Given the description of an element on the screen output the (x, y) to click on. 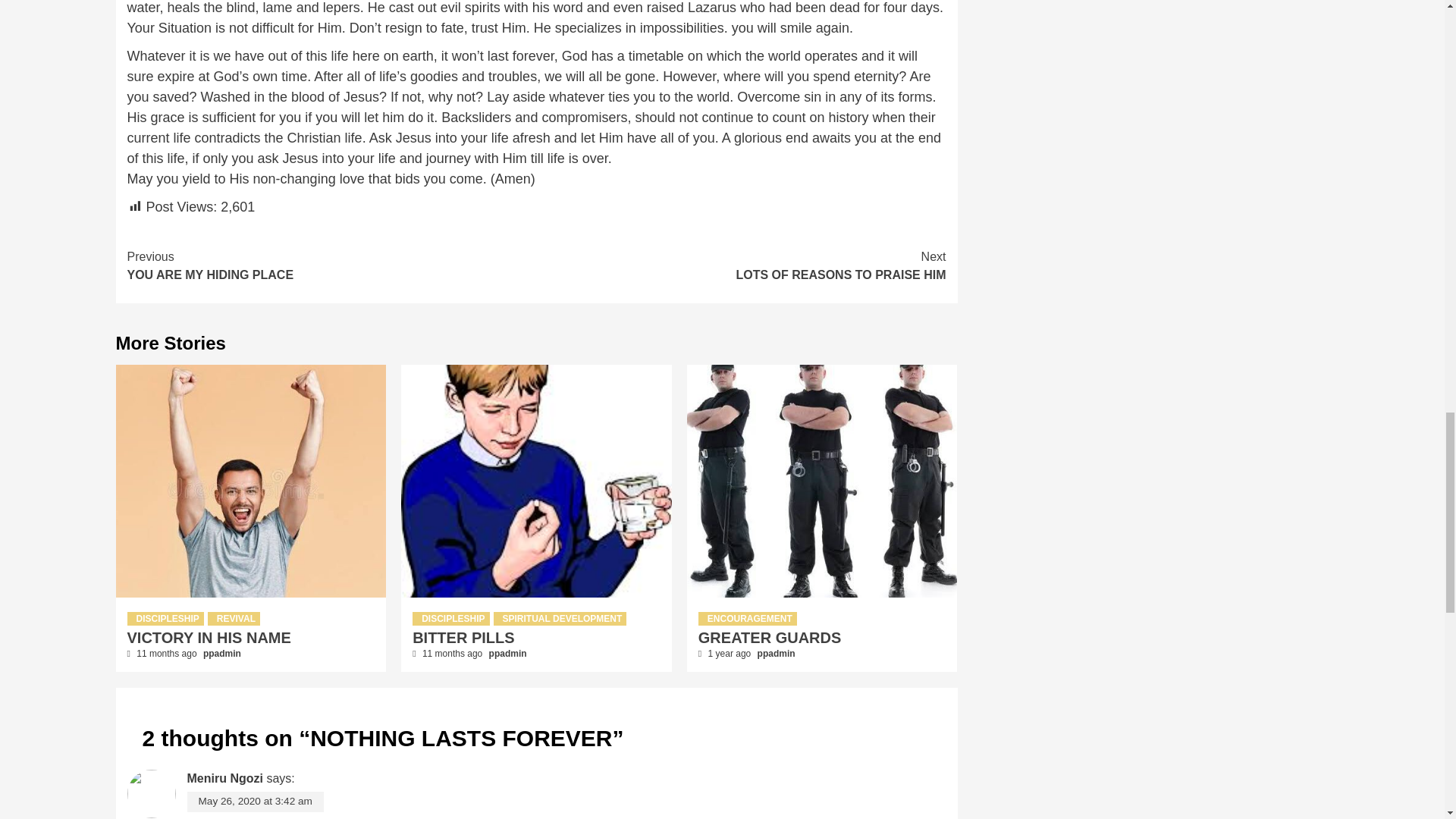
ppadmin (222, 653)
ppadmin (775, 653)
REVIVAL (234, 618)
BITTER PILLS (462, 637)
SPIRITUAL DEVELOPMENT (741, 266)
DISCIPLESHIP (560, 618)
DISCIPLESHIP (165, 618)
GREATER GUARDS (450, 618)
VICTORY IN HIS NAME (769, 637)
ppadmin (209, 637)
May 26, 2020 at 3:42 am (332, 266)
ENCOURAGEMENT (508, 653)
